Given the description of an element on the screen output the (x, y) to click on. 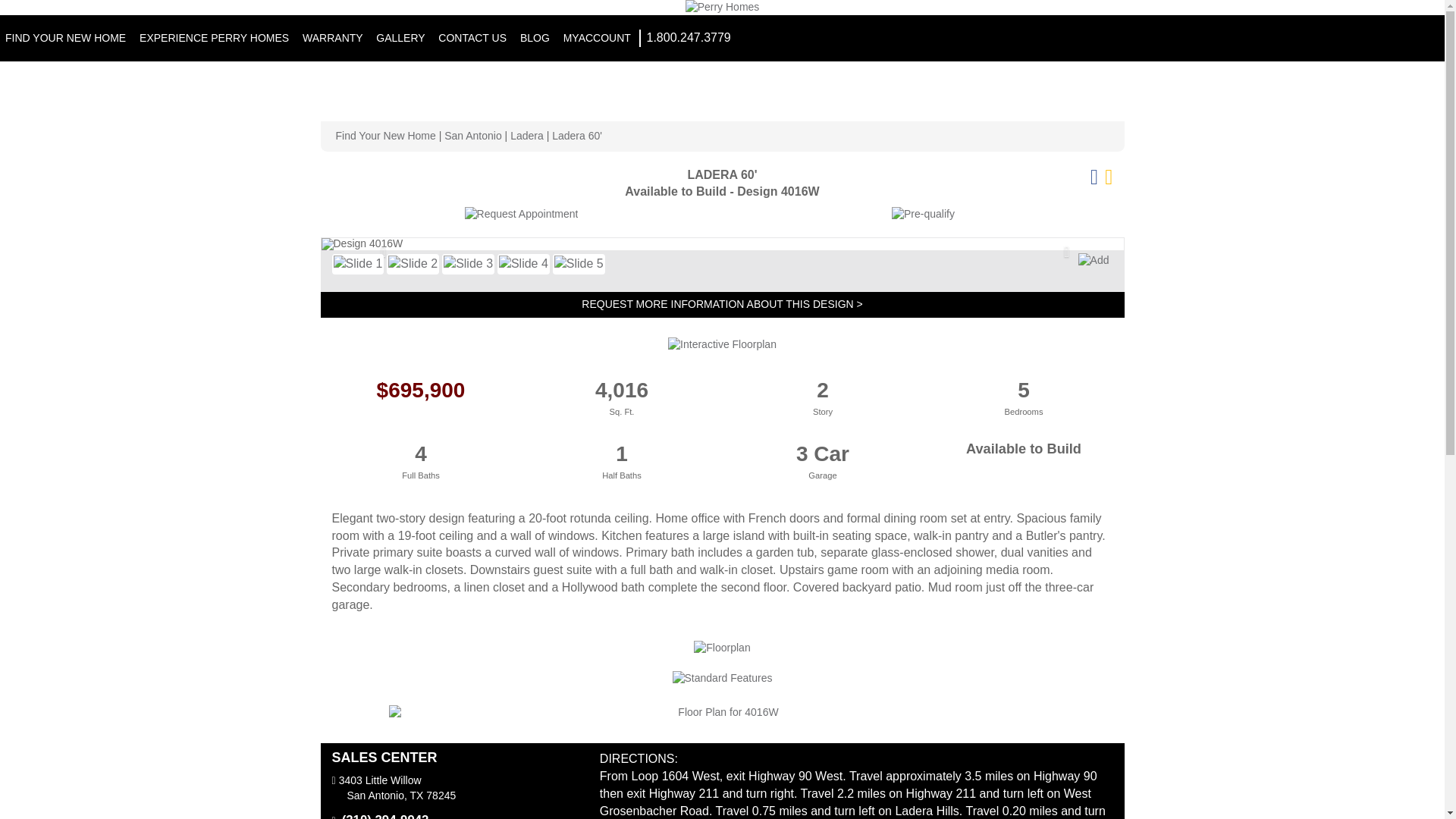
FIND YOUR NEW HOME  (66, 37)
WARRANTY  (334, 37)
Add to my favorites (1093, 260)
EXPERIENCE PERRY HOMES  (215, 37)
GALLERY  (401, 37)
